Given the description of an element on the screen output the (x, y) to click on. 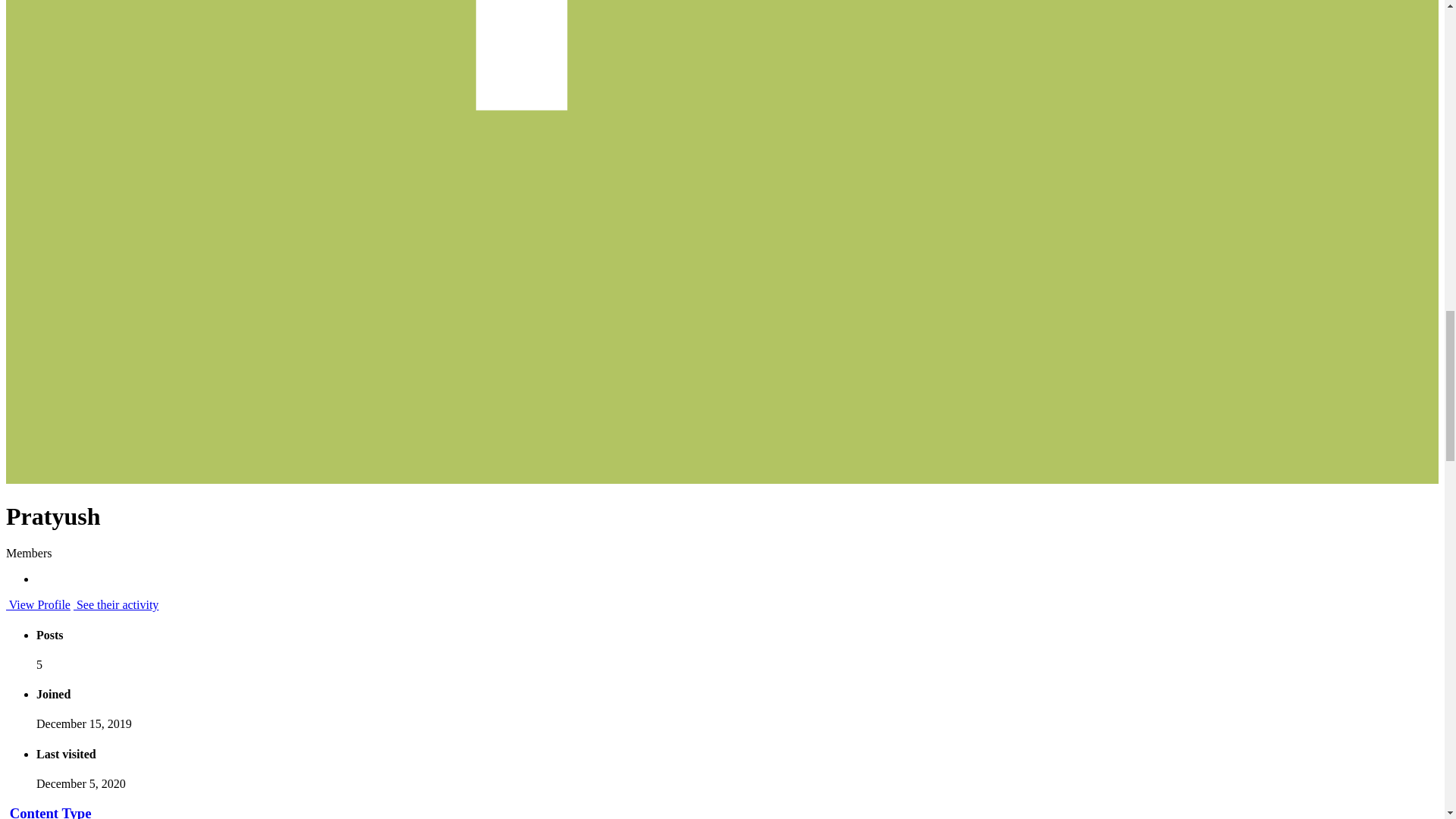
Pratyush's Profile (37, 604)
 Content Type  (49, 812)
 See their activity (116, 604)
 View Profile (37, 604)
Pratyush's Content (116, 604)
